Given the description of an element on the screen output the (x, y) to click on. 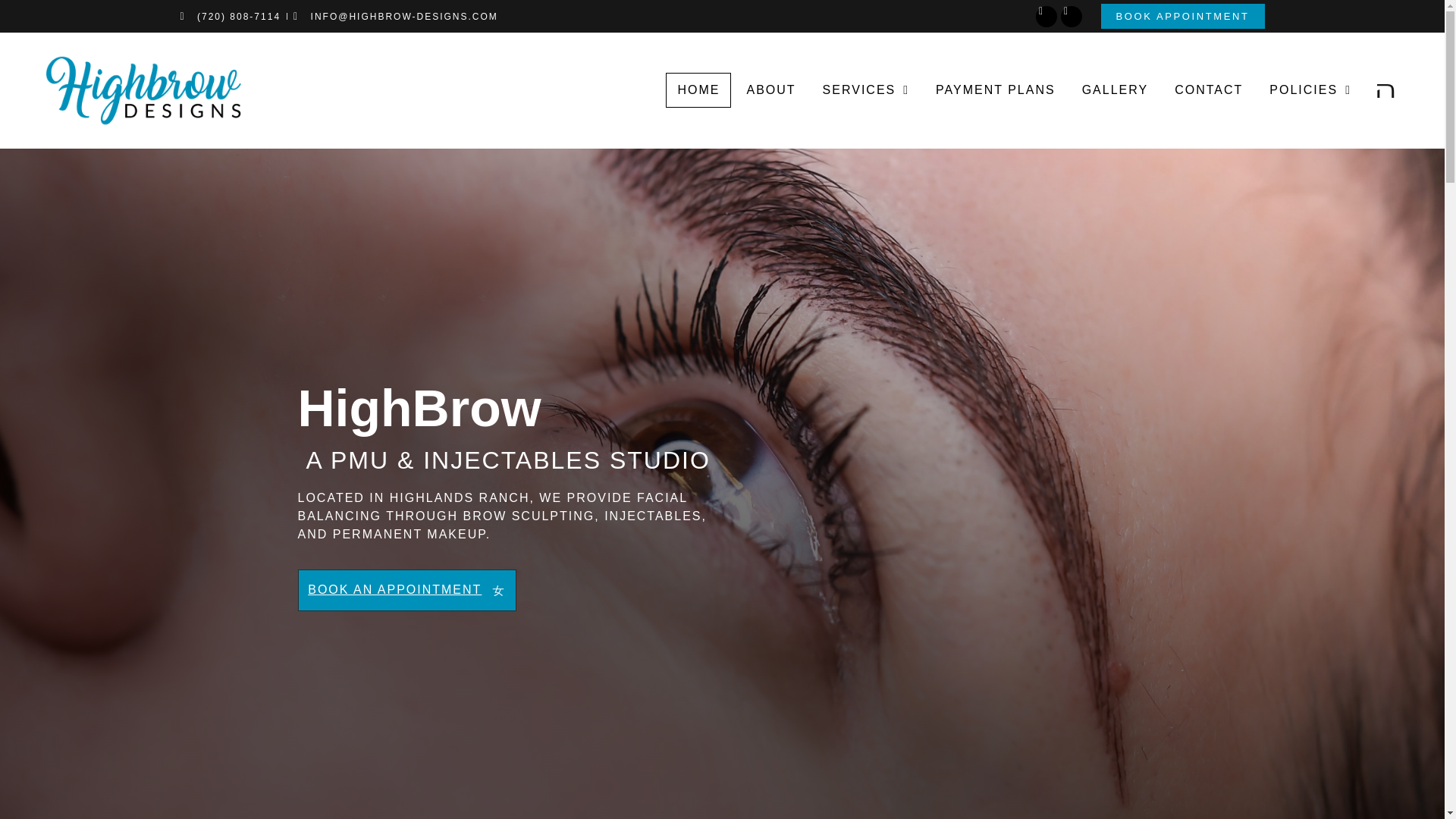
GALLERY (1115, 89)
BOOK AN APPOINTMENT (406, 589)
POLICIES (1309, 89)
SERVICES (865, 89)
BOOK APPOINTMENT (1182, 16)
ABOUT (770, 89)
PAYMENT PLANS (995, 89)
CONTACT (1208, 89)
HOME (697, 89)
